Given the description of an element on the screen output the (x, y) to click on. 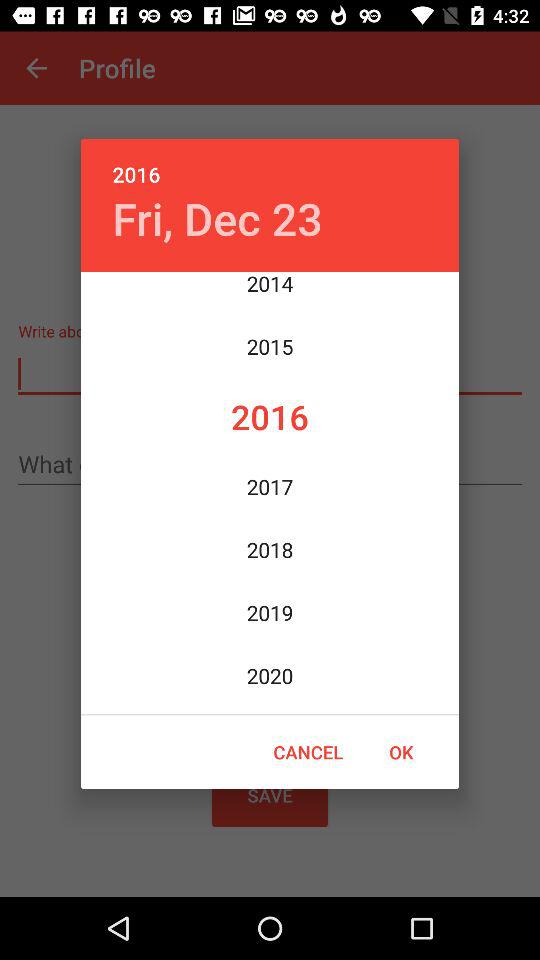
scroll until the ok (401, 751)
